Given the description of an element on the screen output the (x, y) to click on. 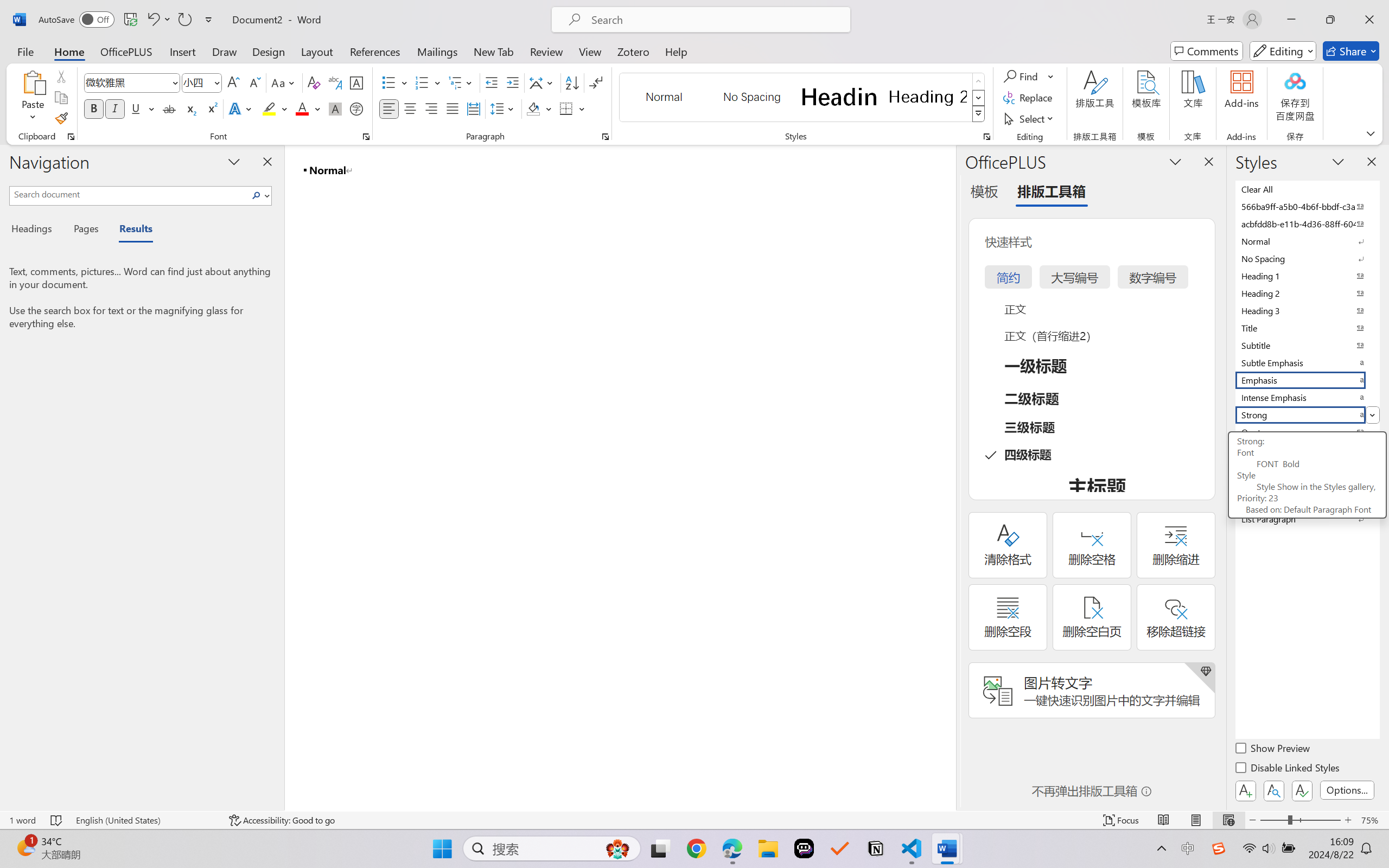
Numbering (428, 82)
Comments (1206, 50)
Font Color Red (302, 108)
Class: Image (1218, 847)
Bullets (388, 82)
OfficePLUS (126, 51)
Multilevel List (461, 82)
Justify (452, 108)
Class: NetUIScrollBar (948, 477)
Underline (135, 108)
Find (1022, 75)
Bullets (395, 82)
Results (130, 229)
